Given the description of an element on the screen output the (x, y) to click on. 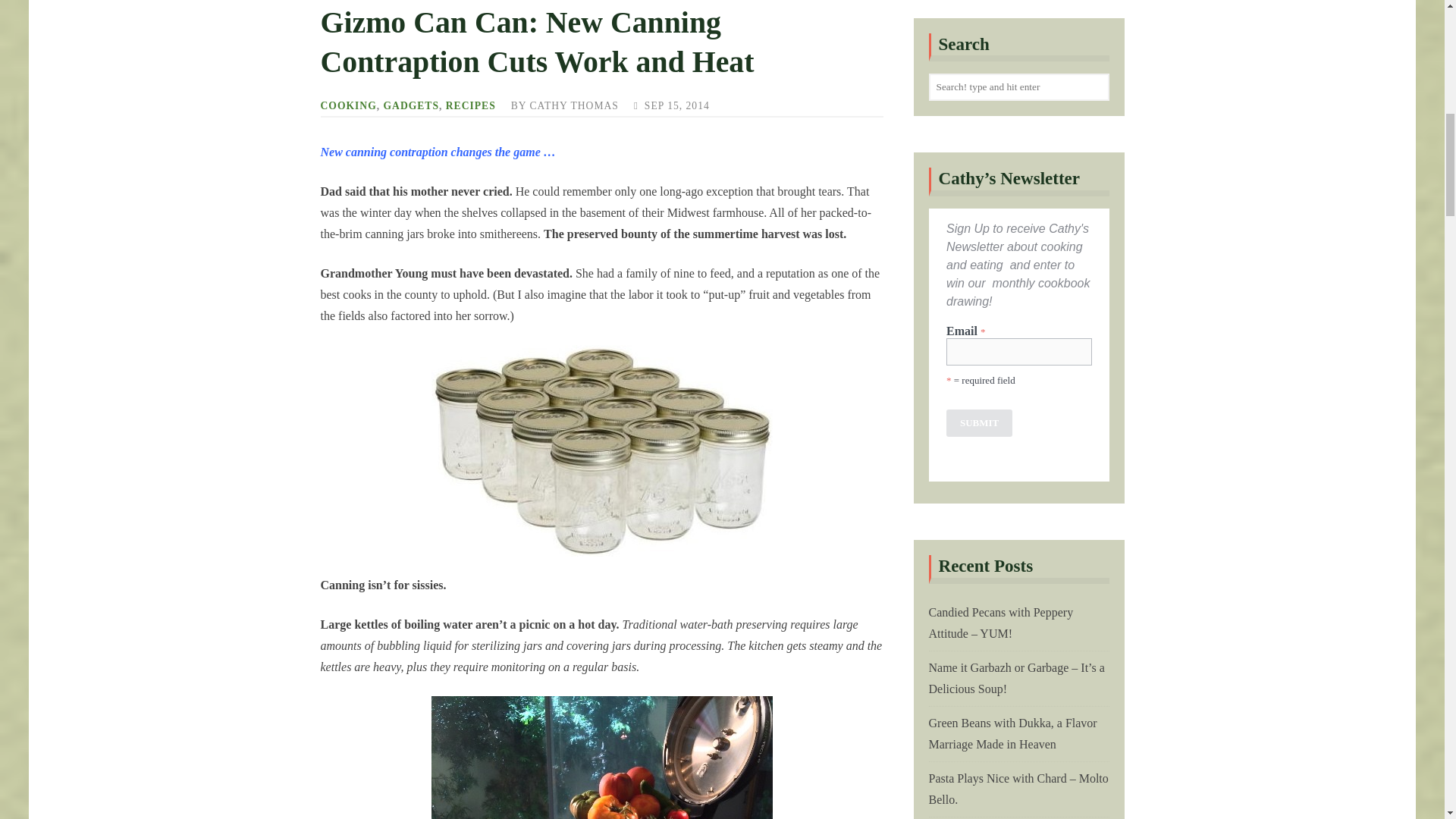
RECIPES (470, 105)
GADGETS (411, 105)
CATHY THOMAS (573, 105)
Green Beans with Dukka, a Flavor Marriage Made in Heaven (1012, 246)
Posts by Cathy Thomas (573, 105)
COOKING (347, 105)
